Given the description of an element on the screen output the (x, y) to click on. 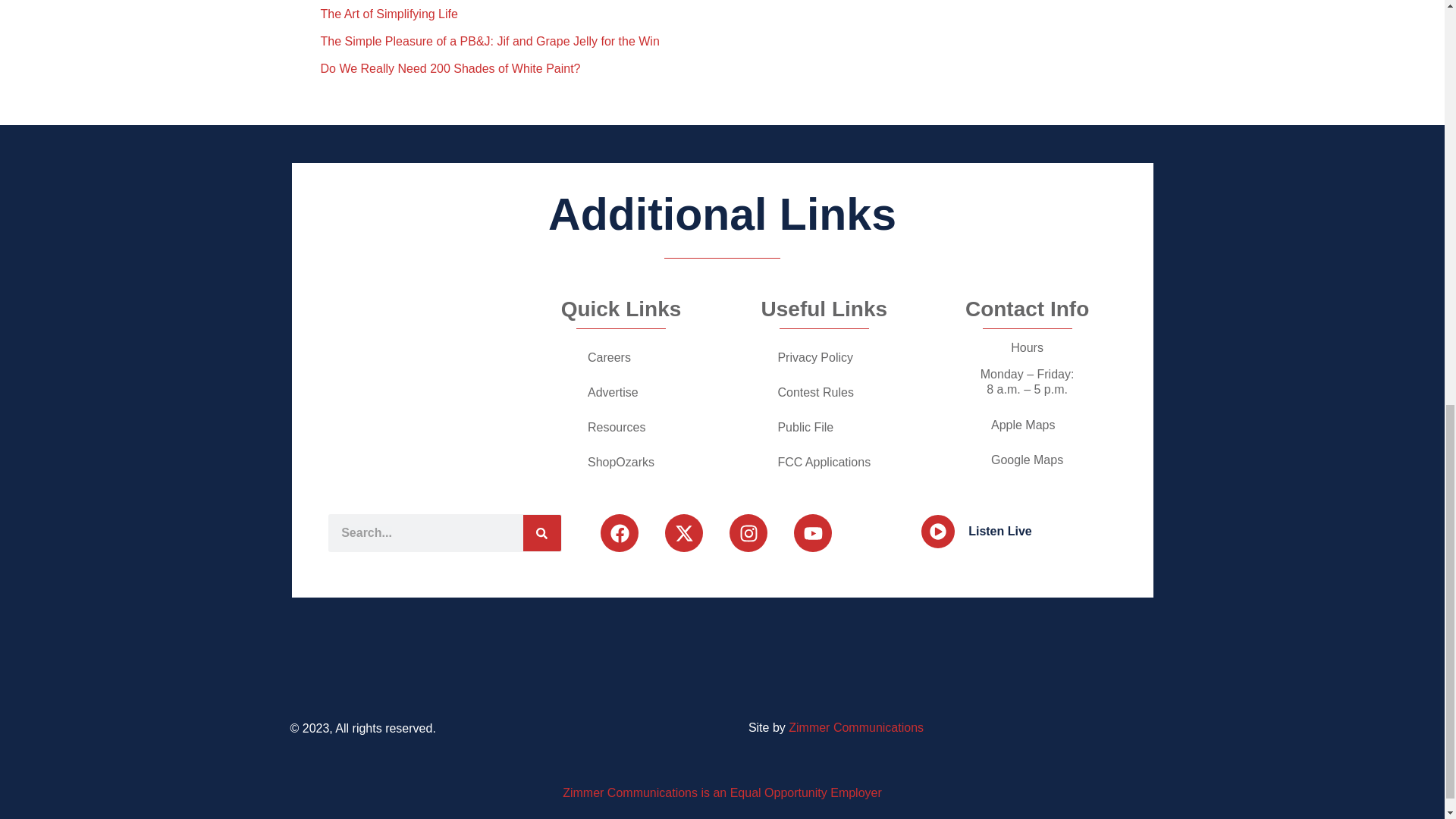
The Art of Simplifying Life (388, 13)
